Given the description of an element on the screen output the (x, y) to click on. 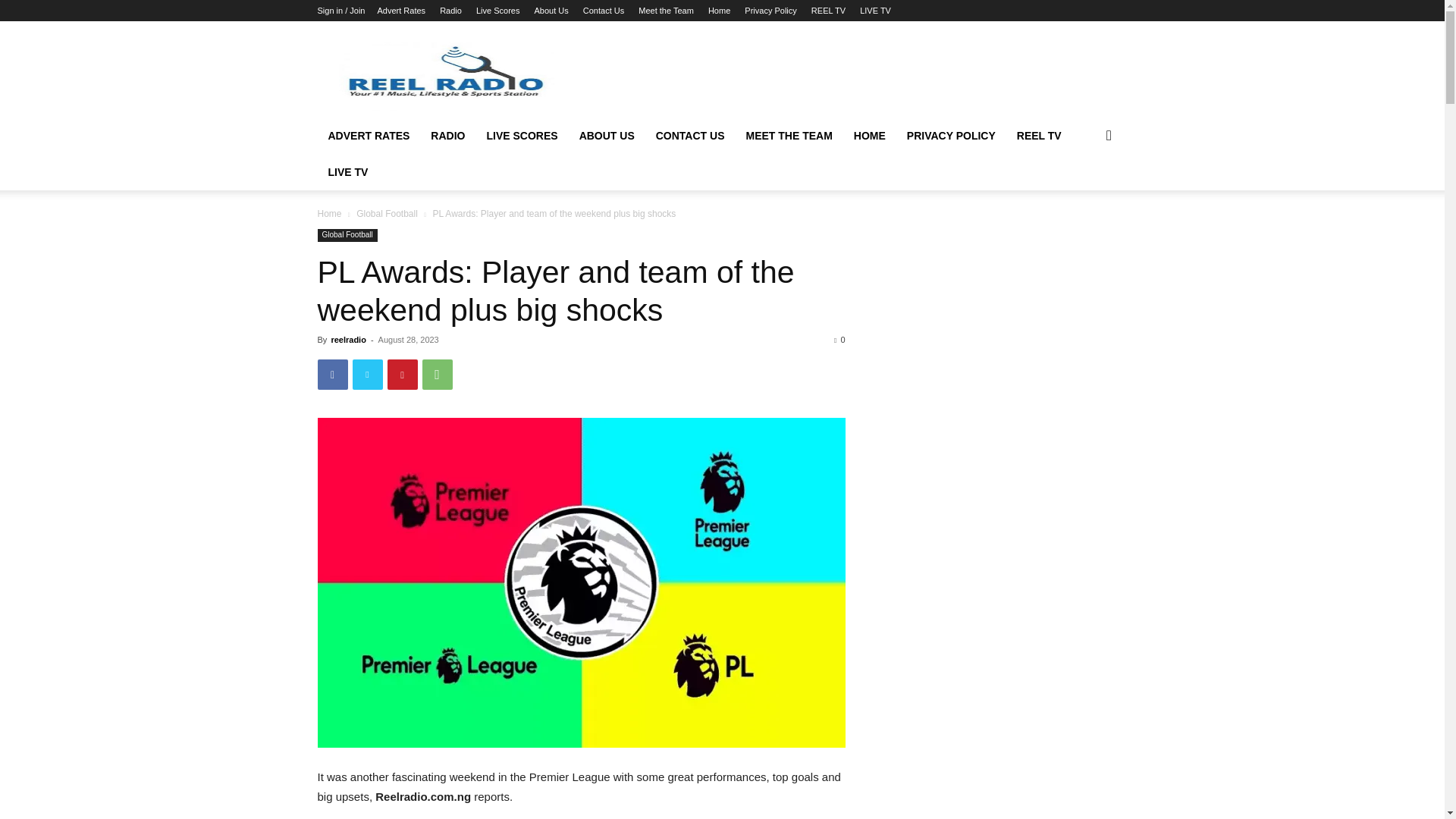
ADVERT RATES (368, 135)
RADIO (448, 135)
About Us (550, 10)
REEL TV (827, 10)
Pinterest (401, 374)
LIVE SCORES (521, 135)
Contact Us (603, 10)
Facebook (332, 374)
Live Scores (497, 10)
LIVE TV (875, 10)
WhatsApp (436, 374)
Privacy Policy (770, 10)
Advert Rates (401, 10)
Meet the Team (666, 10)
